Given the description of an element on the screen output the (x, y) to click on. 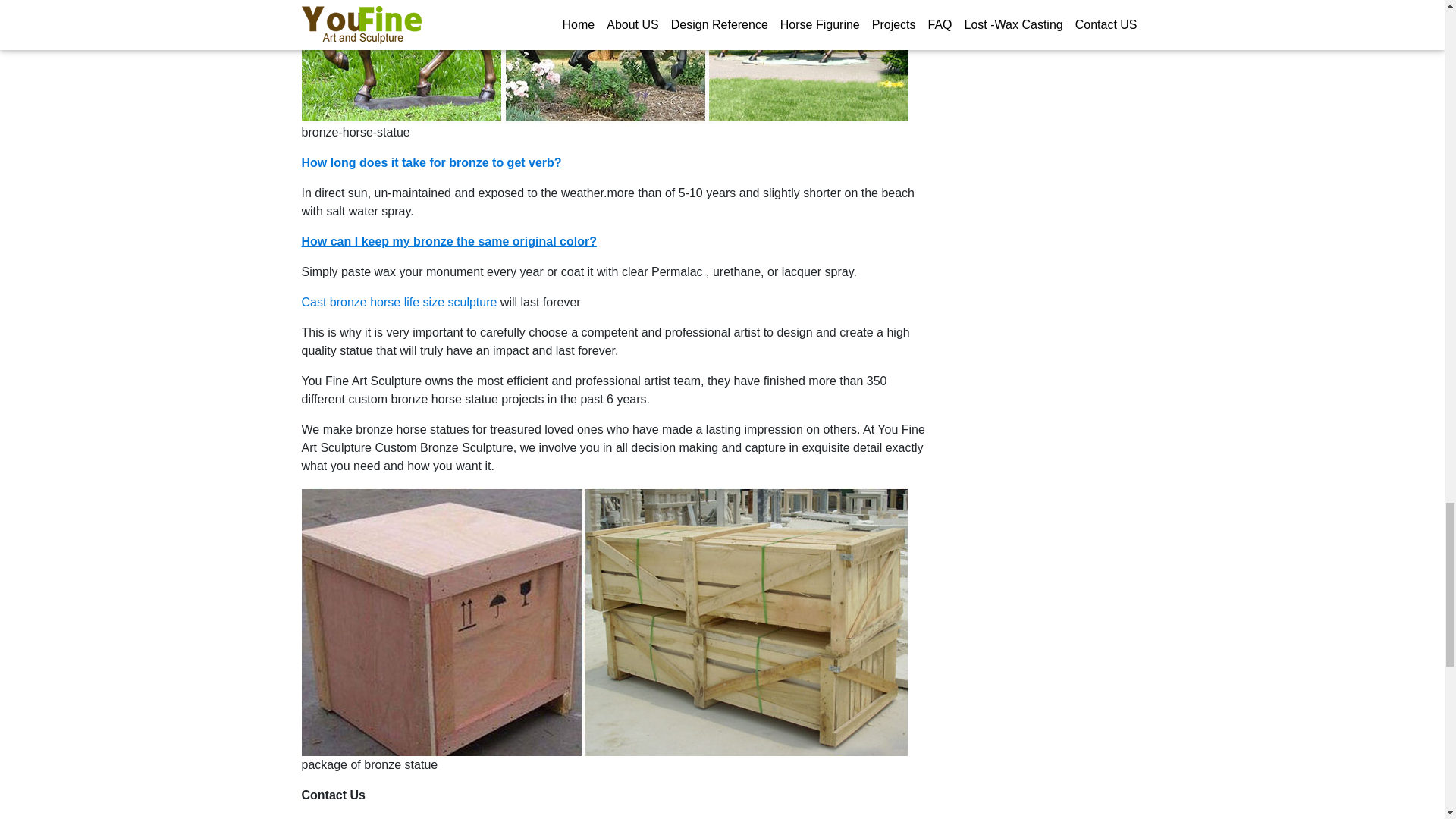
How can I keep my bronze the same original color? (448, 241)
Cast bronze horse life size sculpture (399, 301)
How long does it take for bronze to get verb? (431, 162)
